Given the description of an element on the screen output the (x, y) to click on. 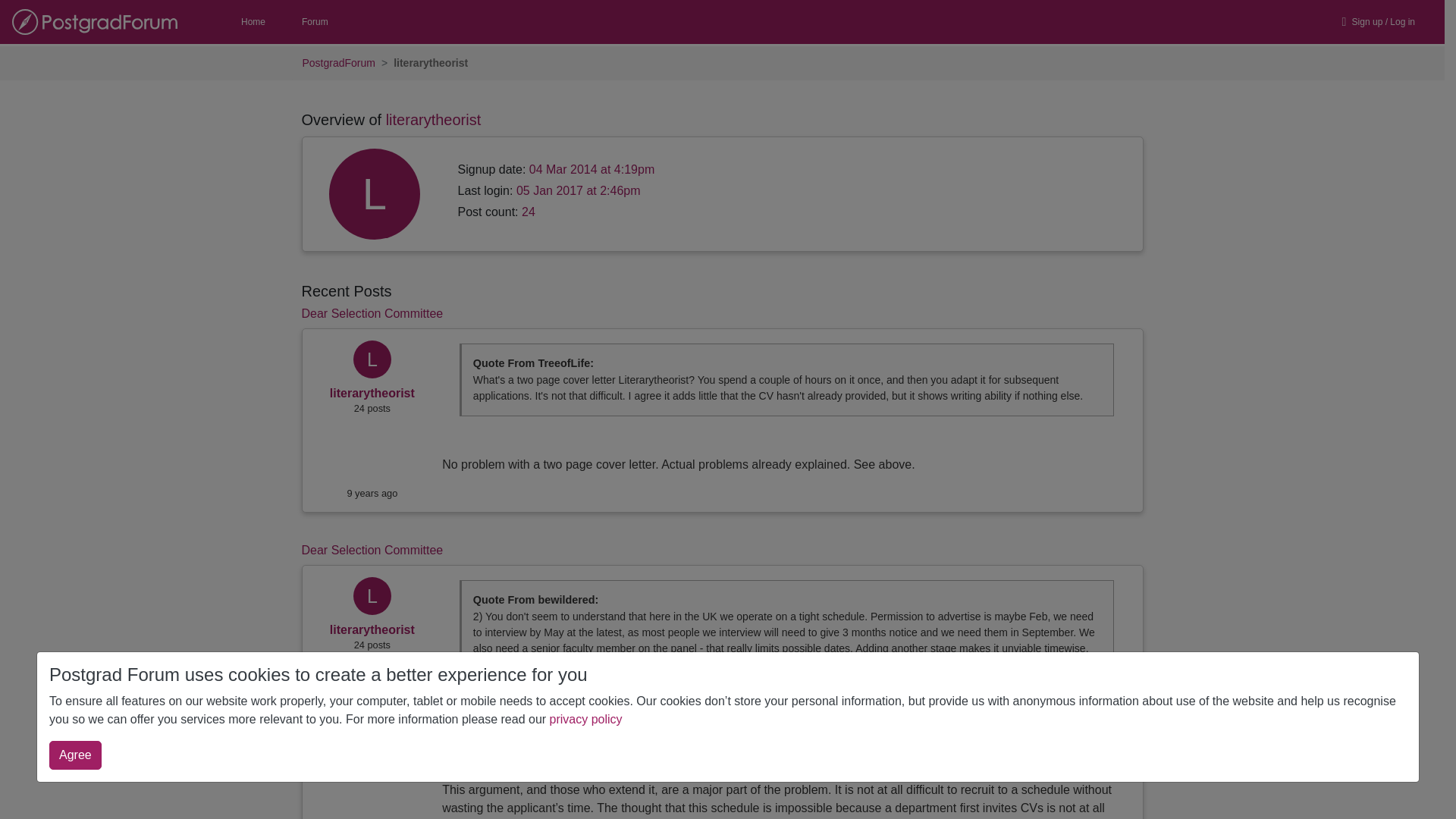
literarytheorist (372, 361)
Dear Selection Committee (372, 549)
literarytheorist (372, 598)
PostgradForum (337, 63)
L (372, 361)
literarytheorist (372, 392)
Dear Selection Committee (372, 313)
24-Jun-15, 20:03:00 (372, 493)
Forum (314, 22)
L (372, 598)
View thread: Dear Selection Committee (372, 313)
View thread: Dear Selection Committee (372, 549)
Home (252, 22)
literarytheorist (372, 629)
